Given the description of an element on the screen output the (x, y) to click on. 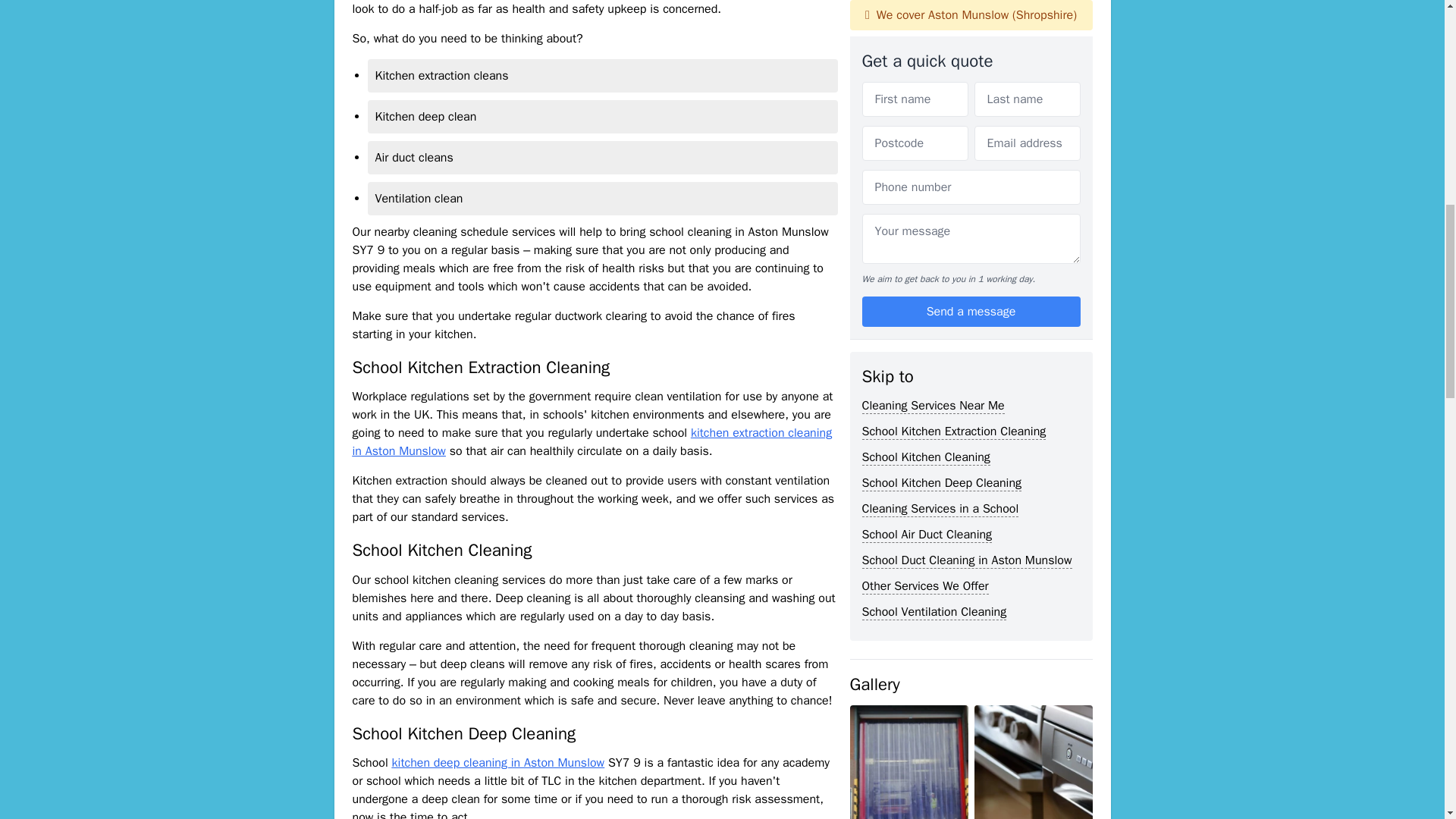
Cleaning Services Near Me (932, 7)
School Kitchen Deep Cleaning (941, 83)
School Kitchen Extraction Cleaning (953, 32)
kitchen deep cleaning in Aston Munslow (498, 762)
School Air Duct Cleaning (926, 135)
School Duct Cleaning in Aston Munslow (966, 160)
Other Services We Offer (924, 186)
Cleaning Services Near Me (932, 7)
Cleaning Services in a School (939, 109)
School Kitchen Cleaning (925, 57)
School Ventilation Cleaning (933, 212)
kitchen extraction cleaning in Aston Munslow (591, 441)
